Given the description of an element on the screen output the (x, y) to click on. 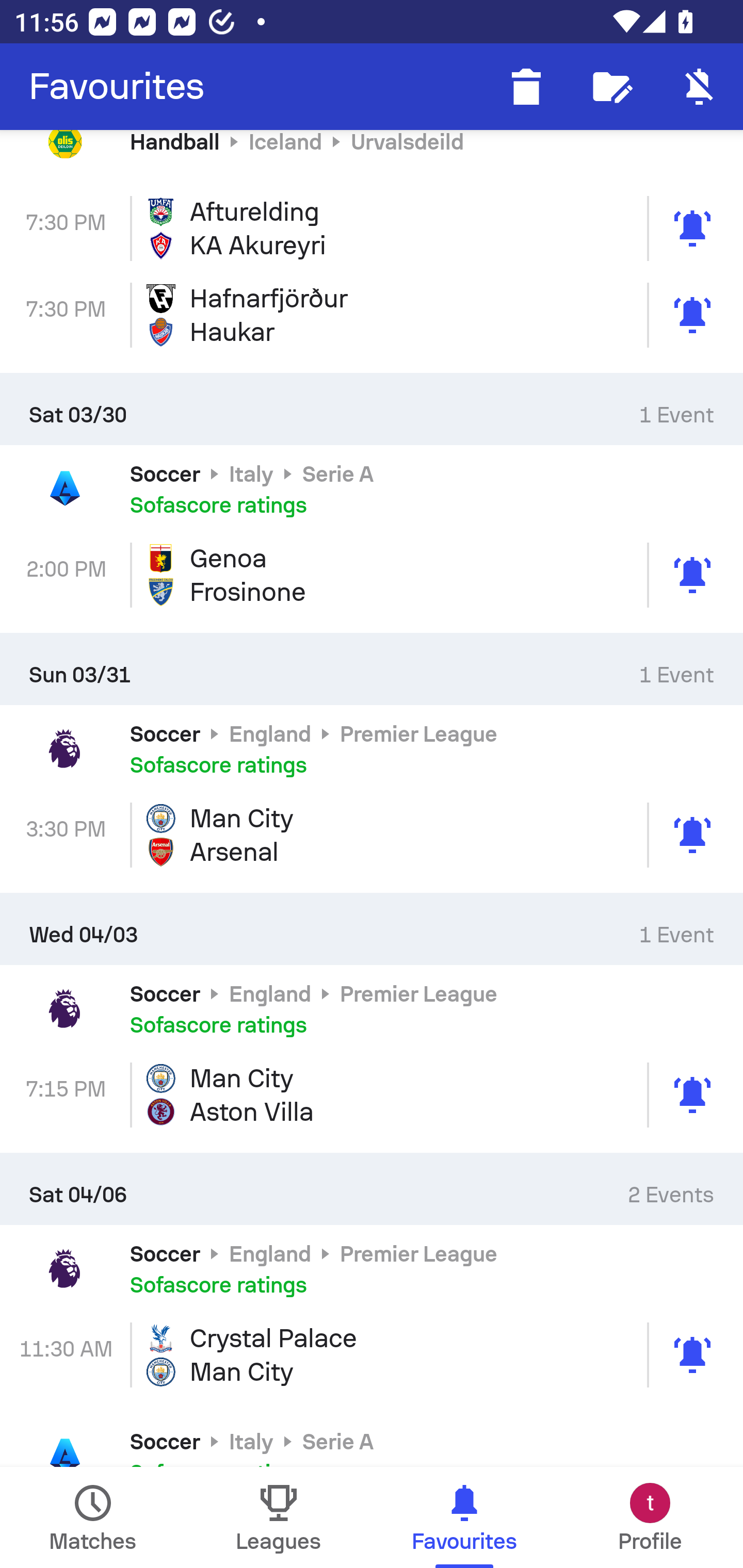
Favourites (116, 86)
Delete finished (525, 86)
Follow editor (612, 86)
Enable notifications (699, 86)
Handball Iceland Urvalsdeild (371, 157)
7:30 PM Afturelding KA Akureyri (371, 228)
7:30 PM Hafnarfjörður Haukar (371, 315)
Sat 03/30 1 Event (371, 409)
Soccer Italy Serie A Sofascore ratings (371, 488)
2:00 PM Genoa Frosinone (371, 574)
Sun 03/31 1 Event (371, 669)
Soccer England Premier League Sofascore ratings (371, 748)
3:30 PM Man City Arsenal (371, 834)
Wed 04/03 1 Event (371, 928)
Soccer England Premier League Sofascore ratings (371, 1008)
7:15 PM Man City Aston Villa (371, 1095)
Sat 04/06 2 Events (371, 1188)
Soccer England Premier League Sofascore ratings (371, 1268)
11:30 AM Crystal Palace Man City (371, 1355)
Soccer Italy Serie A Sofascore ratings (371, 1439)
Matches (92, 1517)
Leagues (278, 1517)
Profile (650, 1517)
